Given the description of an element on the screen output the (x, y) to click on. 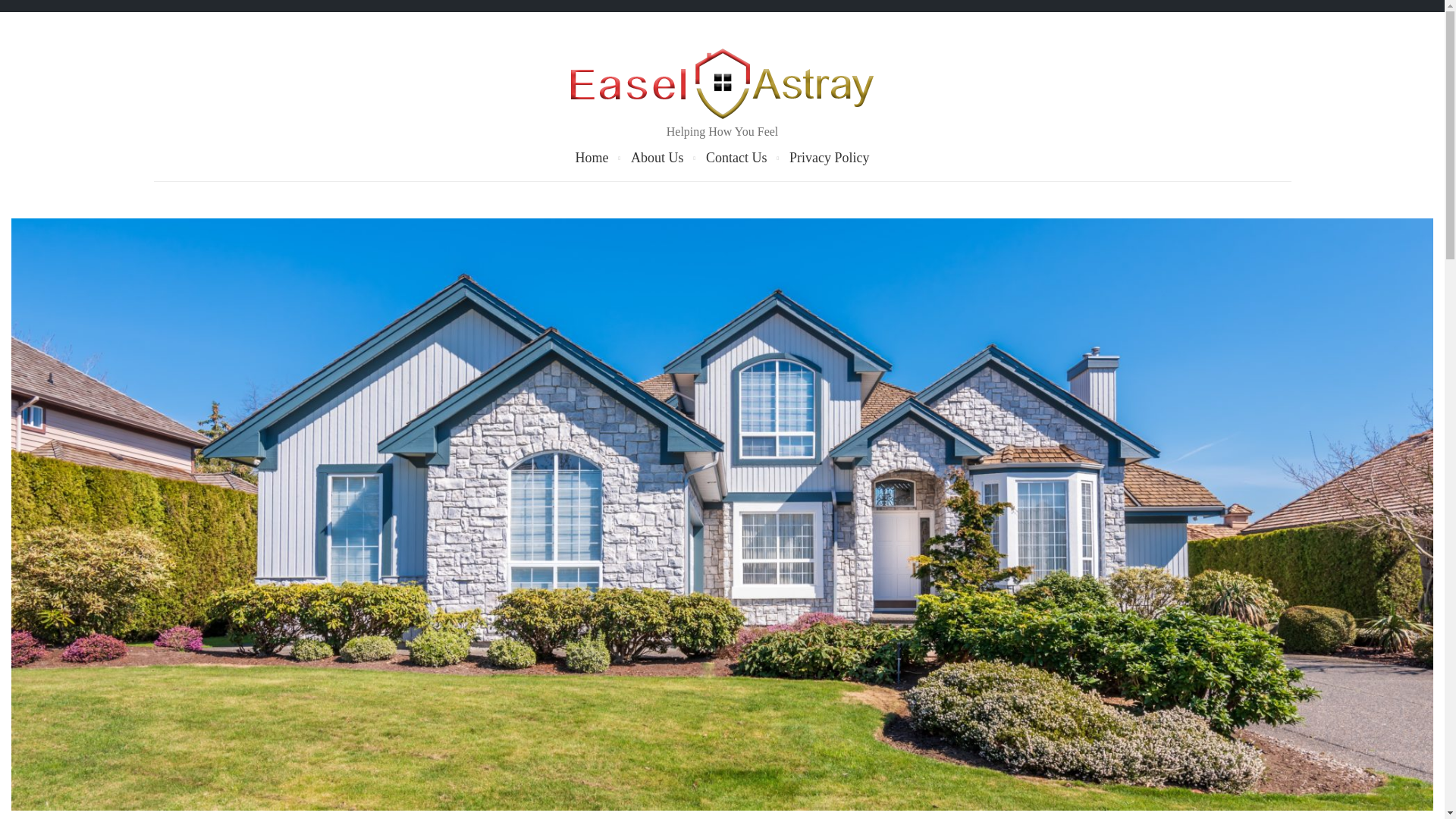
Contact Us (735, 158)
About Us (656, 158)
Privacy Policy (828, 158)
Home (591, 158)
